Given the description of an element on the screen output the (x, y) to click on. 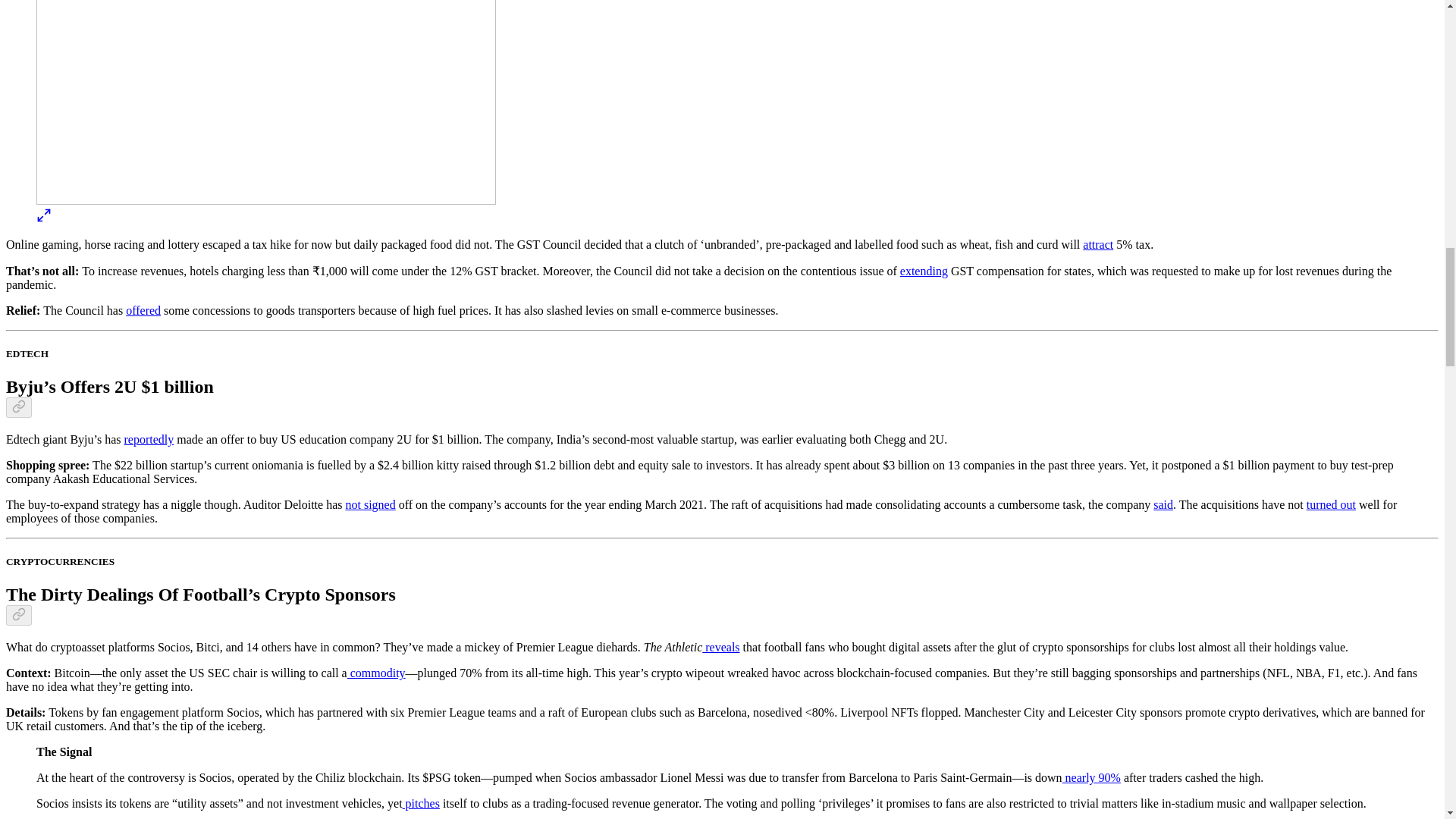
attract (1098, 244)
reportedly (148, 439)
said (1163, 504)
not signed (369, 504)
turned out (1330, 504)
offered (142, 309)
extending (923, 270)
